Given the description of an element on the screen output the (x, y) to click on. 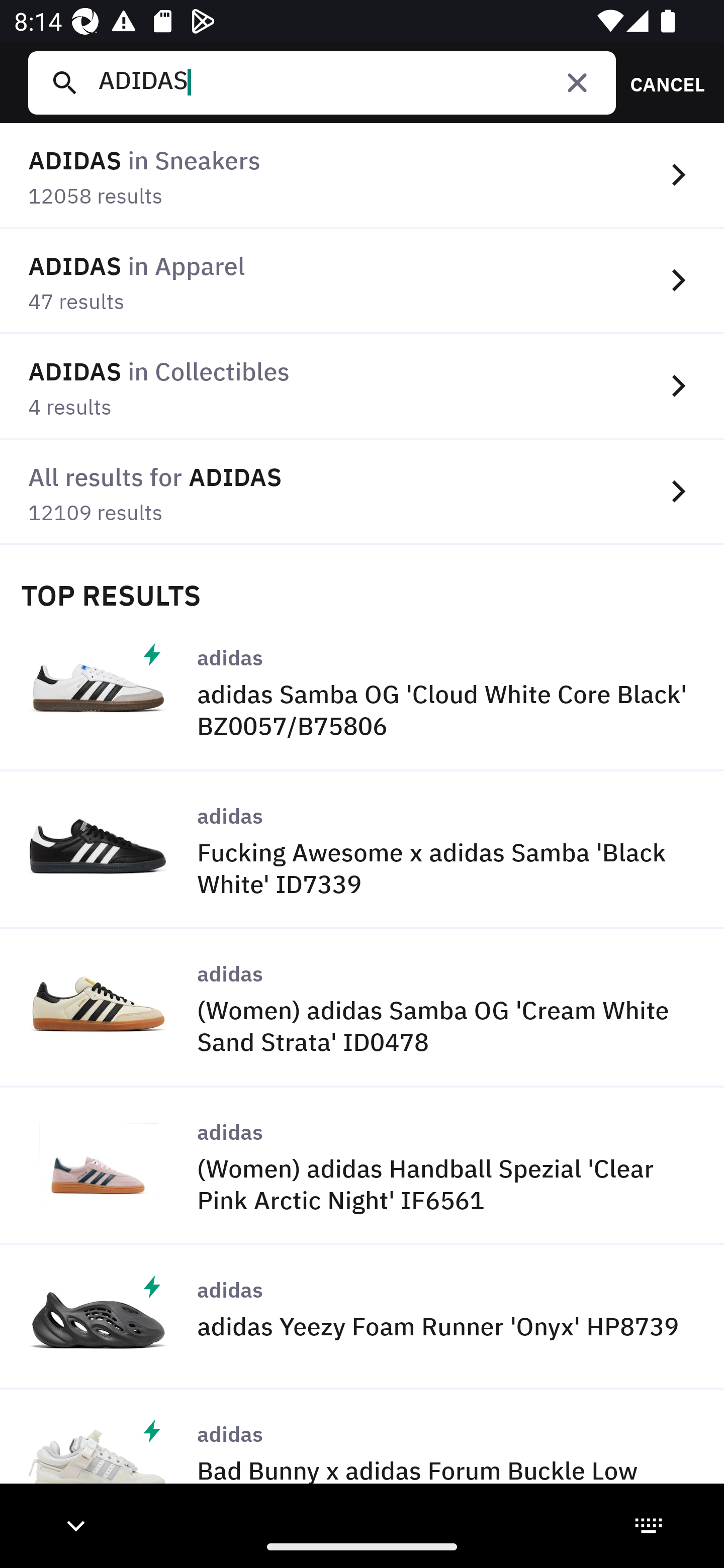
CANCEL (660, 82)
ADIDAS (349, 82)
 (577, 82)
ADIDAS  in Sneakers 12058 results  (362, 175)
ADIDAS  in Apparel 47 results  (362, 280)
ADIDAS  in Collectibles 4 results  (362, 386)
All results for  ADIDAS 12109 results  (362, 492)
 adidas adidas Yeezy Foam Runner 'Onyx' HP8739 (362, 1316)
